Given the description of an element on the screen output the (x, y) to click on. 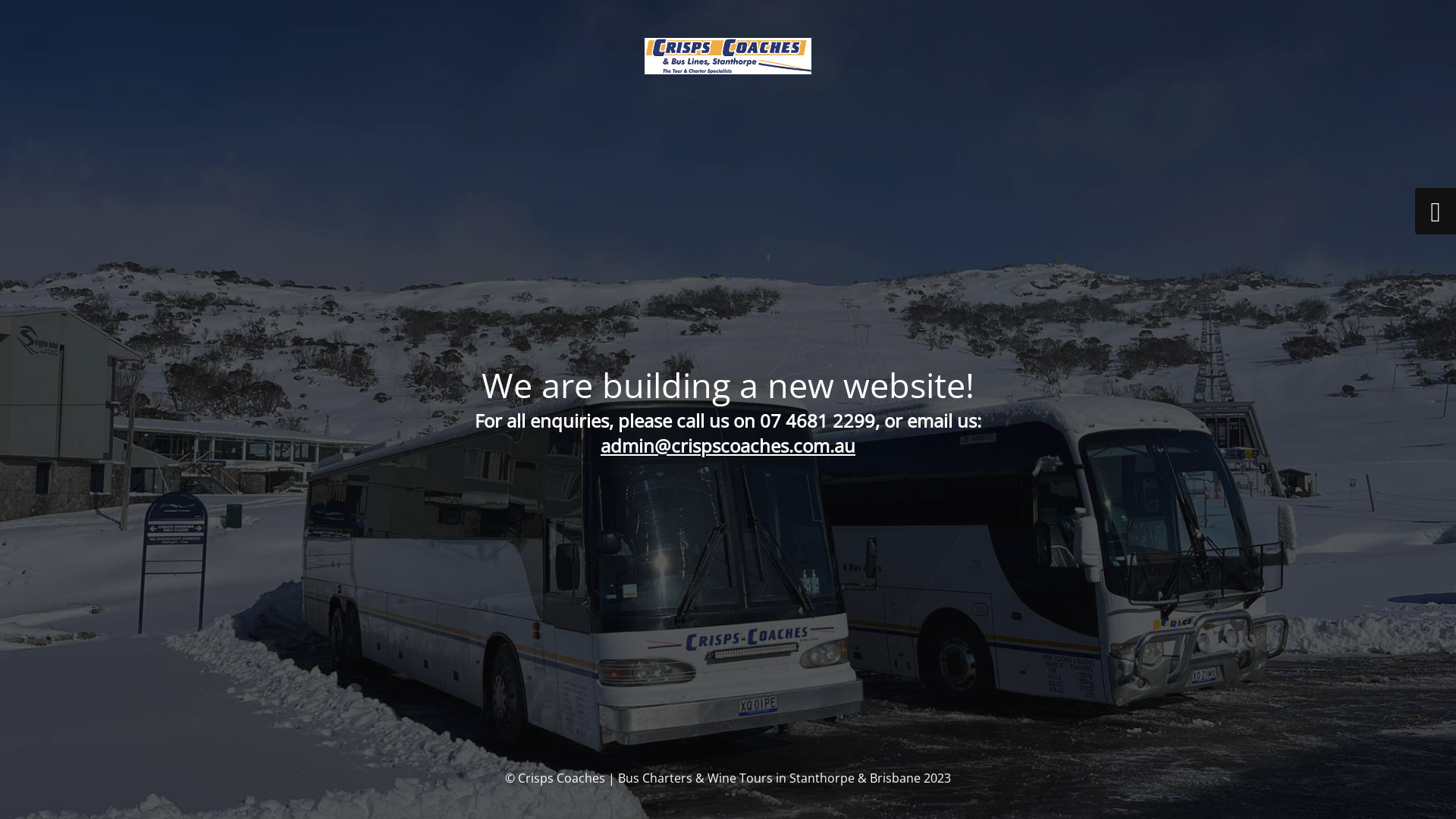
admin@crispscoaches.com.au Element type: text (727, 444)
